Given the description of an element on the screen output the (x, y) to click on. 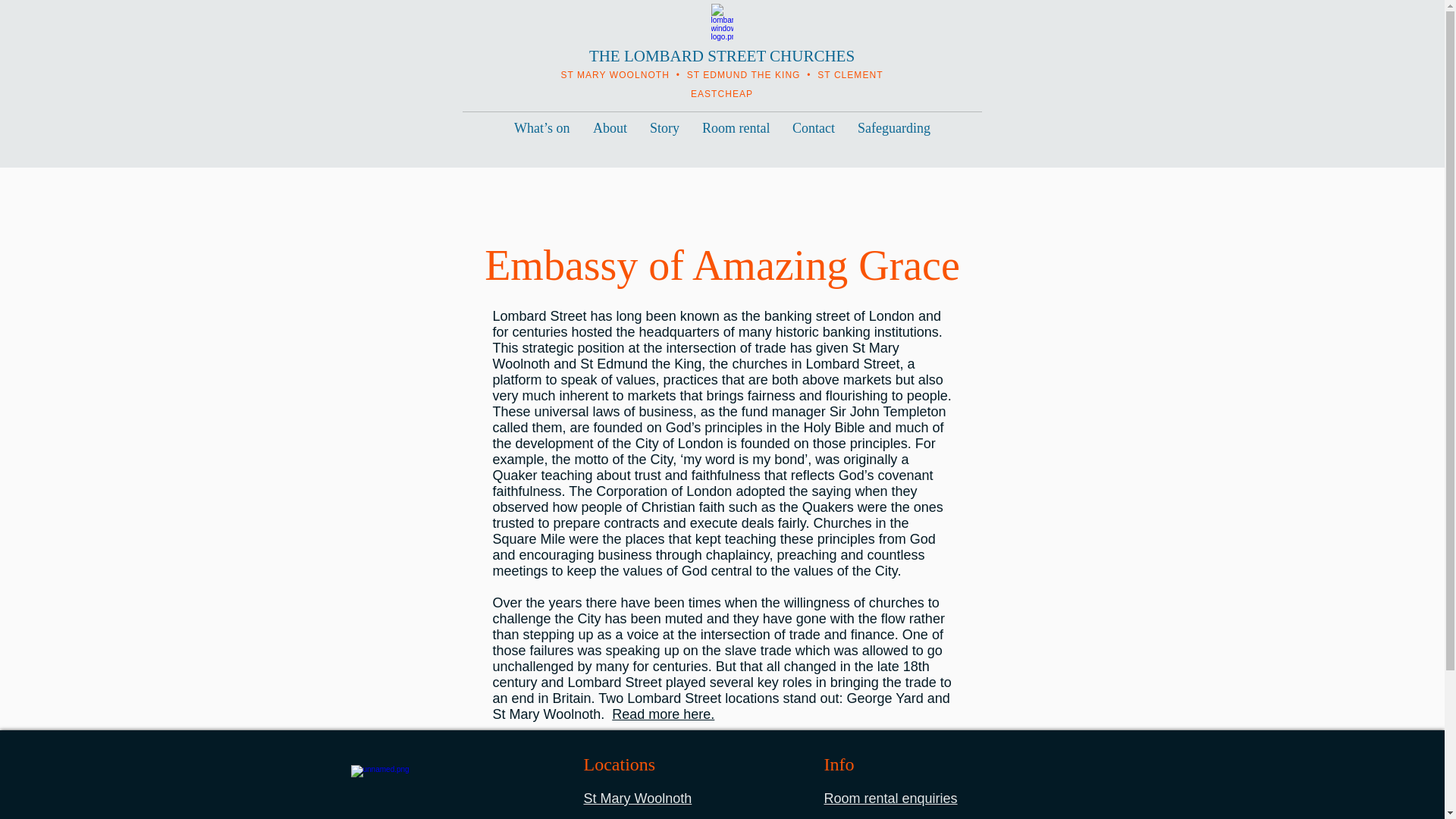
About (609, 127)
St Mary Woolnoth (638, 798)
Contact (812, 127)
Room rental enquiries (890, 798)
Story (664, 127)
Read more here. (662, 713)
Room rental (735, 127)
Safeguarding (893, 127)
